Given the description of an element on the screen output the (x, y) to click on. 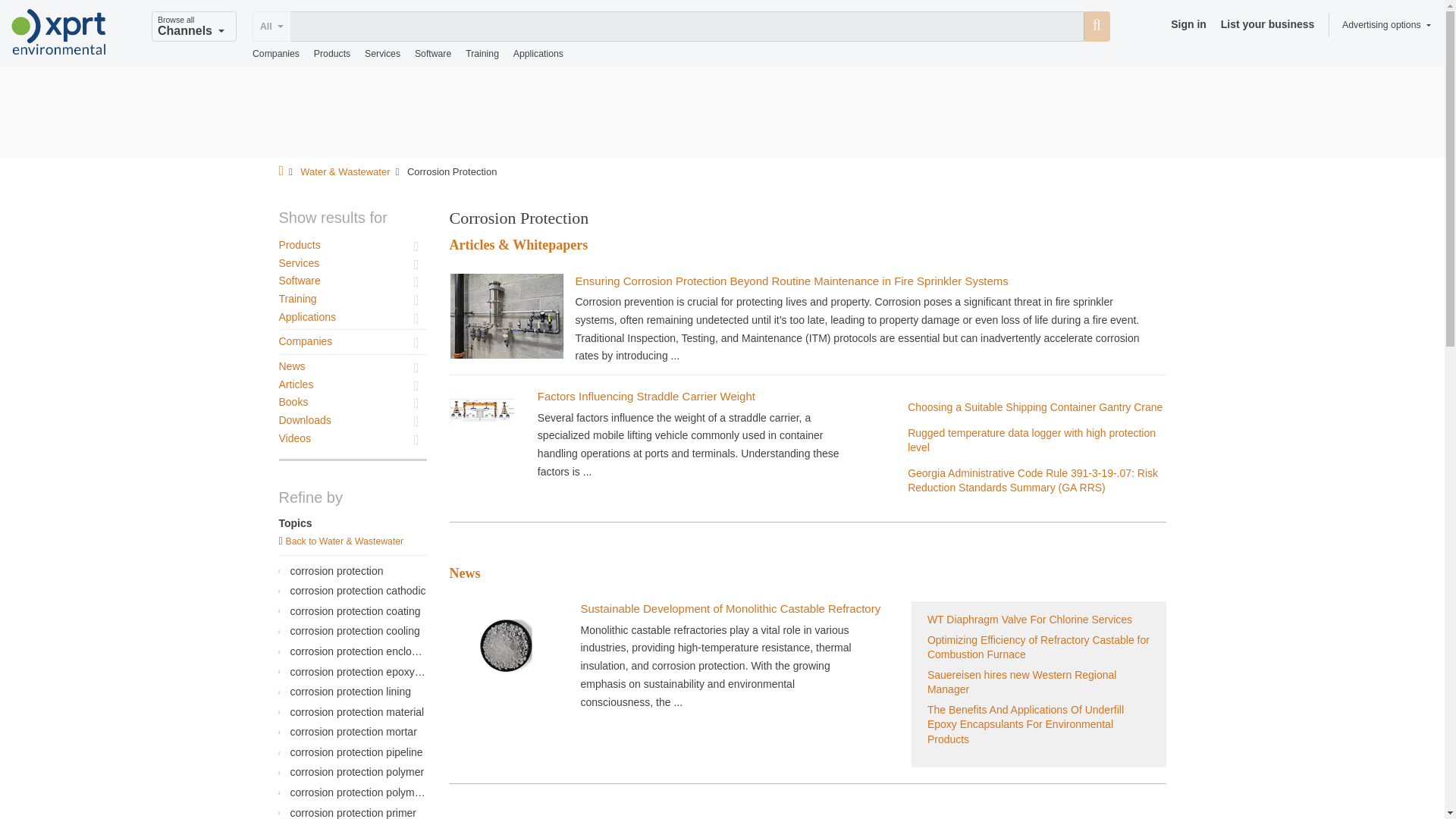
corrosion protection cooling (350, 631)
corrosion protection enclosure (350, 652)
3rd party ad content (721, 111)
corrosion protection coating (350, 611)
corrosion protection cathodic (350, 591)
Logo Environmental XPRT (58, 31)
corrosion protection (350, 571)
